Given the description of an element on the screen output the (x, y) to click on. 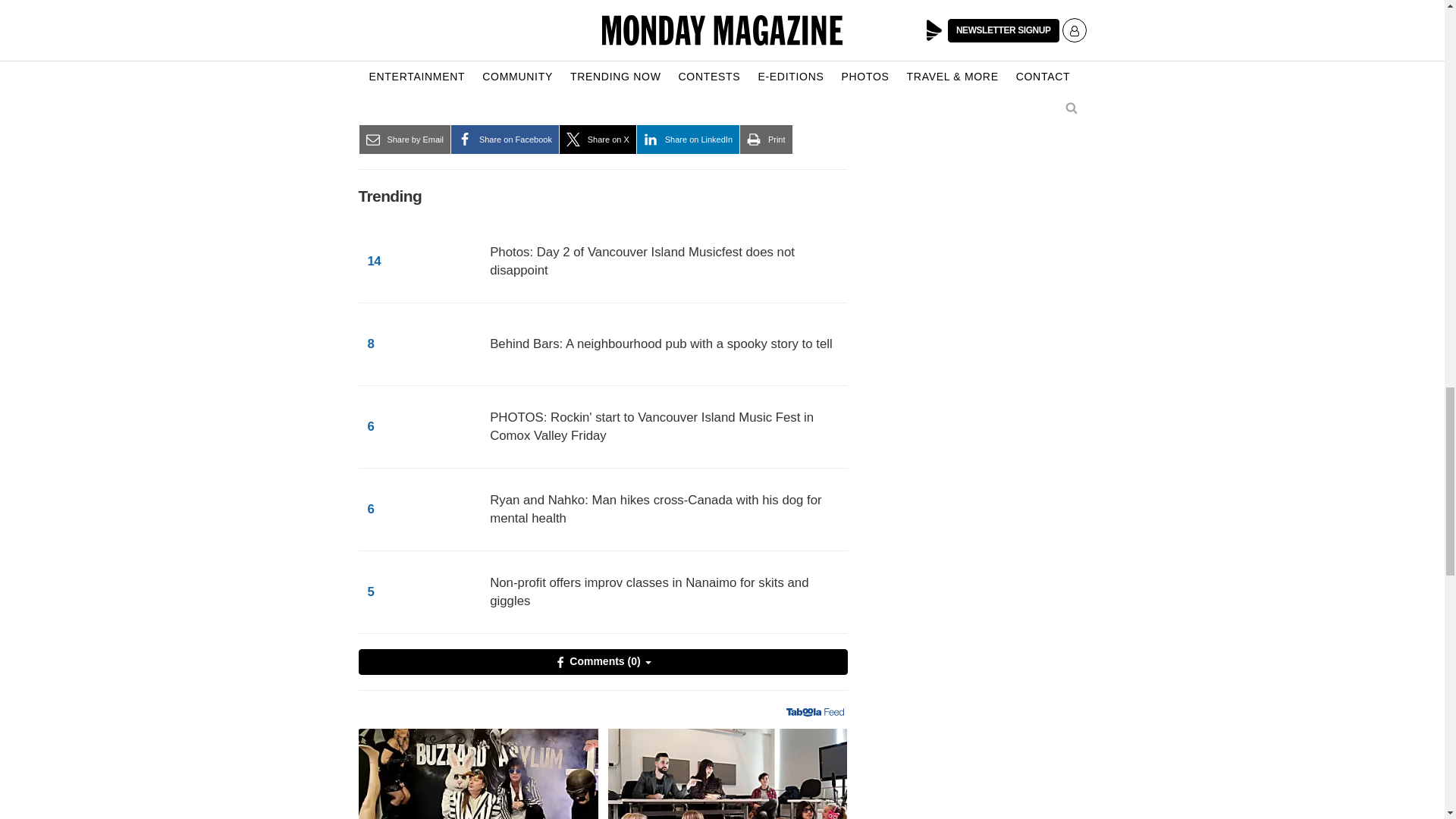
Show Comments (602, 661)
